Given the description of an element on the screen output the (x, y) to click on. 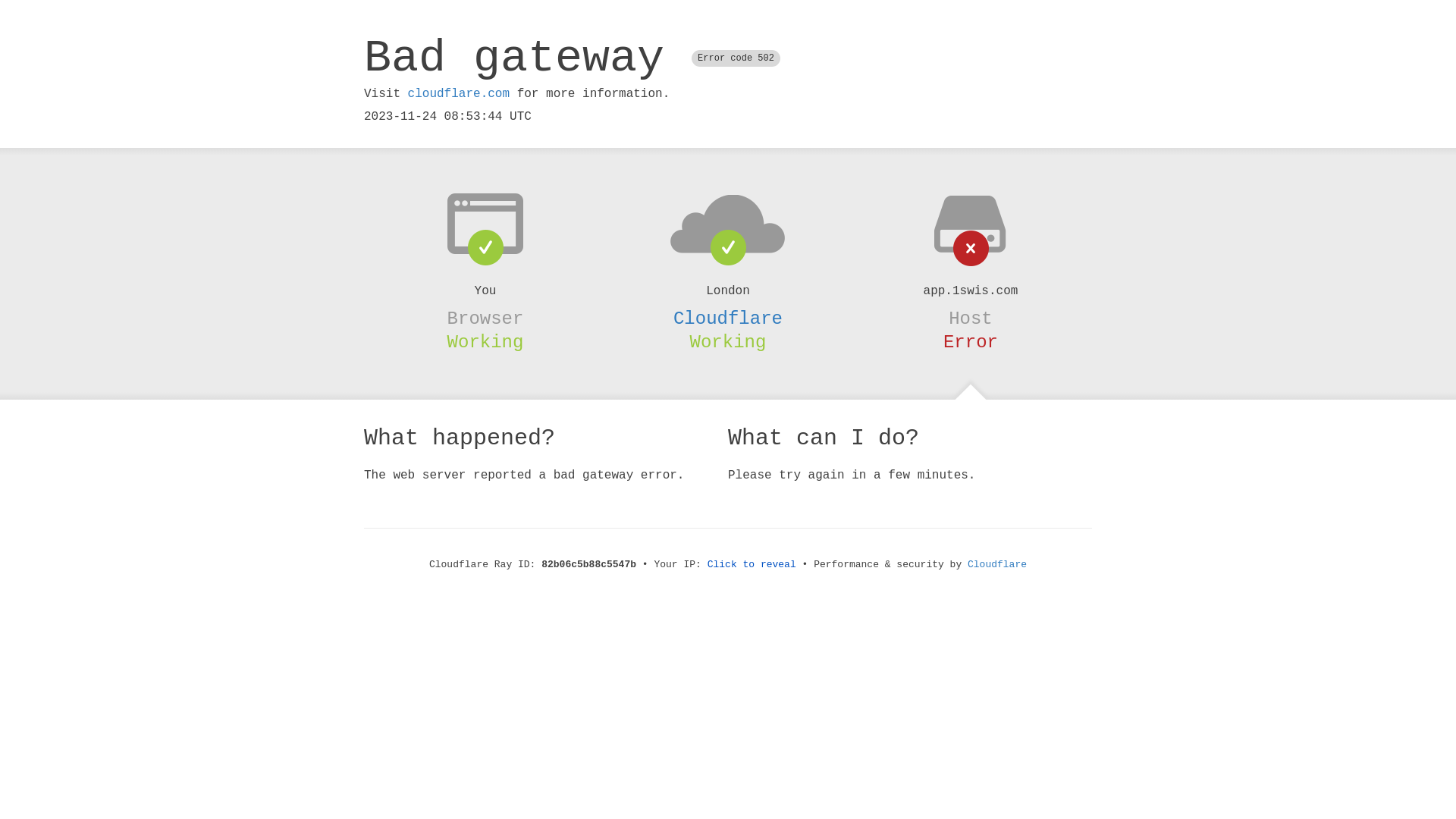
Cloudflare Element type: text (727, 318)
Click to reveal Element type: text (751, 564)
Cloudflare Element type: text (996, 564)
cloudflare.com Element type: text (458, 93)
